Given the description of an element on the screen output the (x, y) to click on. 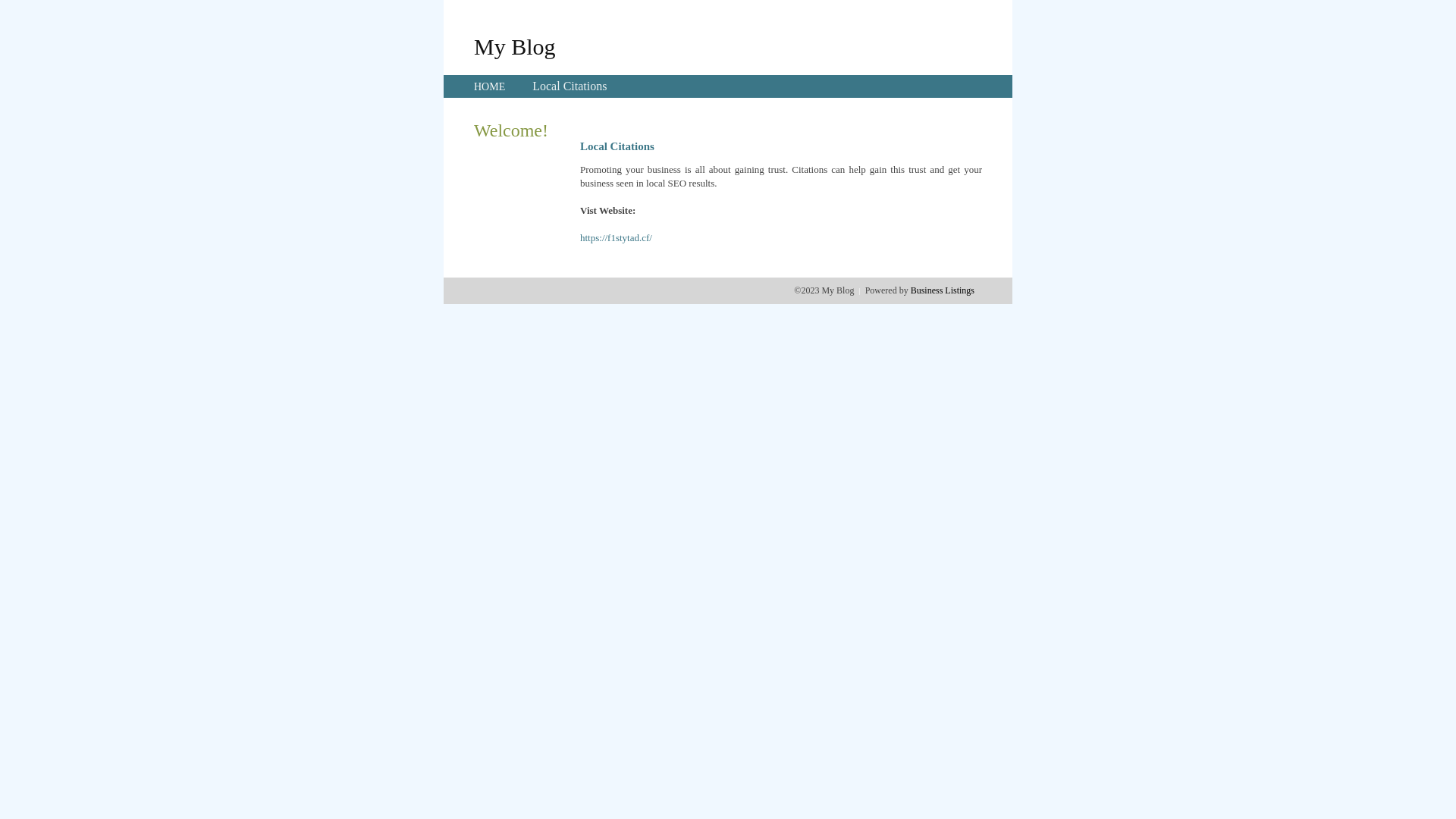
HOME Element type: text (489, 86)
Local Citations Element type: text (569, 85)
https://f1stytad.cf/ Element type: text (616, 237)
Business Listings Element type: text (942, 290)
My Blog Element type: text (514, 46)
